Given the description of an element on the screen output the (x, y) to click on. 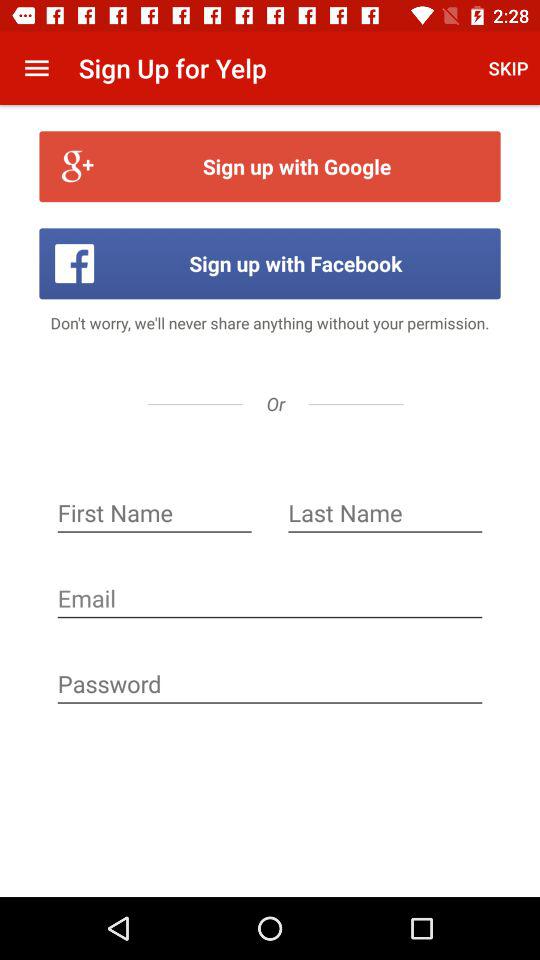
press the icon above the sign up with (36, 68)
